Given the description of an element on the screen output the (x, y) to click on. 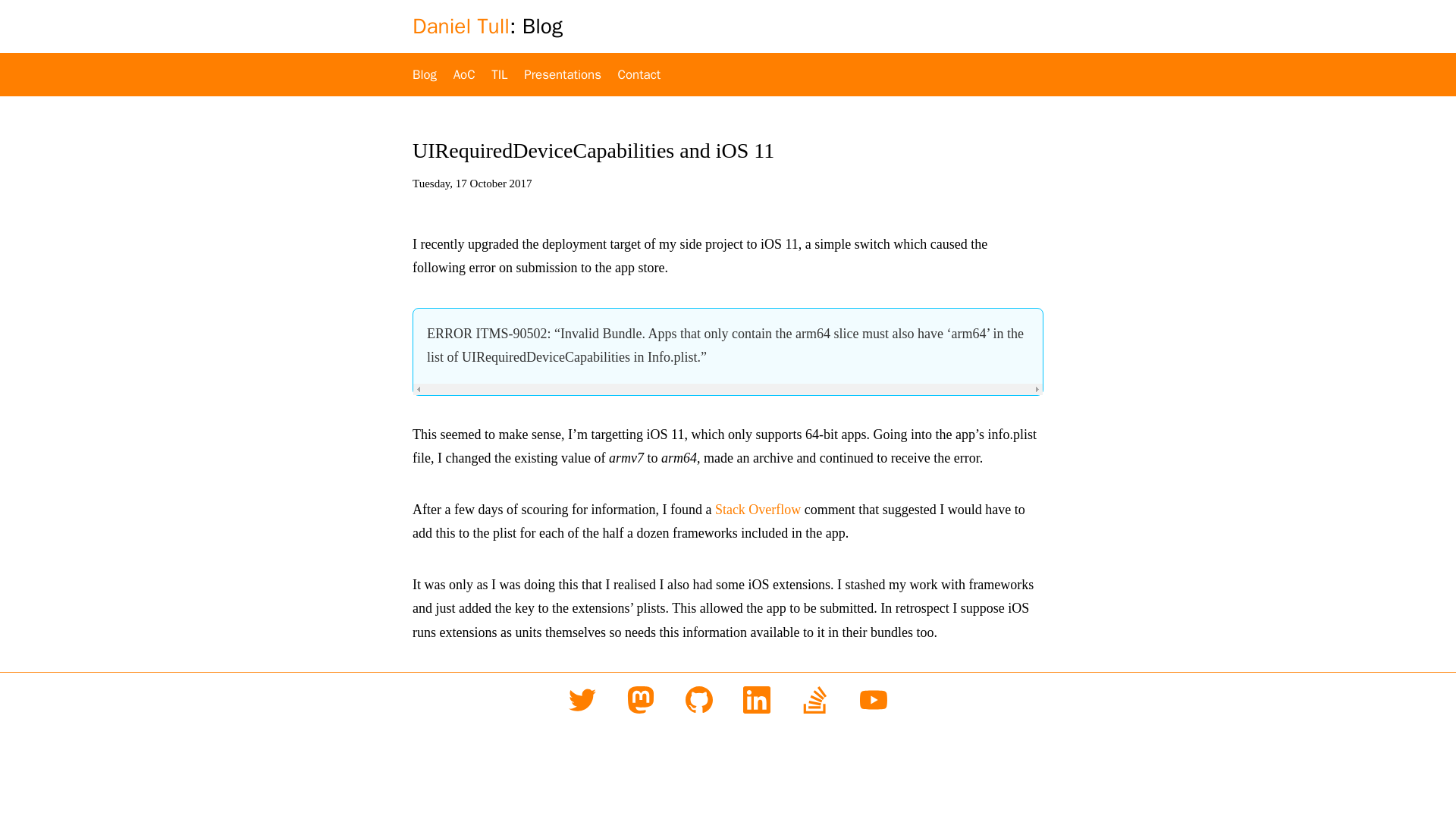
Daniel Tull (460, 26)
Contact (639, 74)
Stack Overflow (757, 509)
Presentations (562, 74)
